Given the description of an element on the screen output the (x, y) to click on. 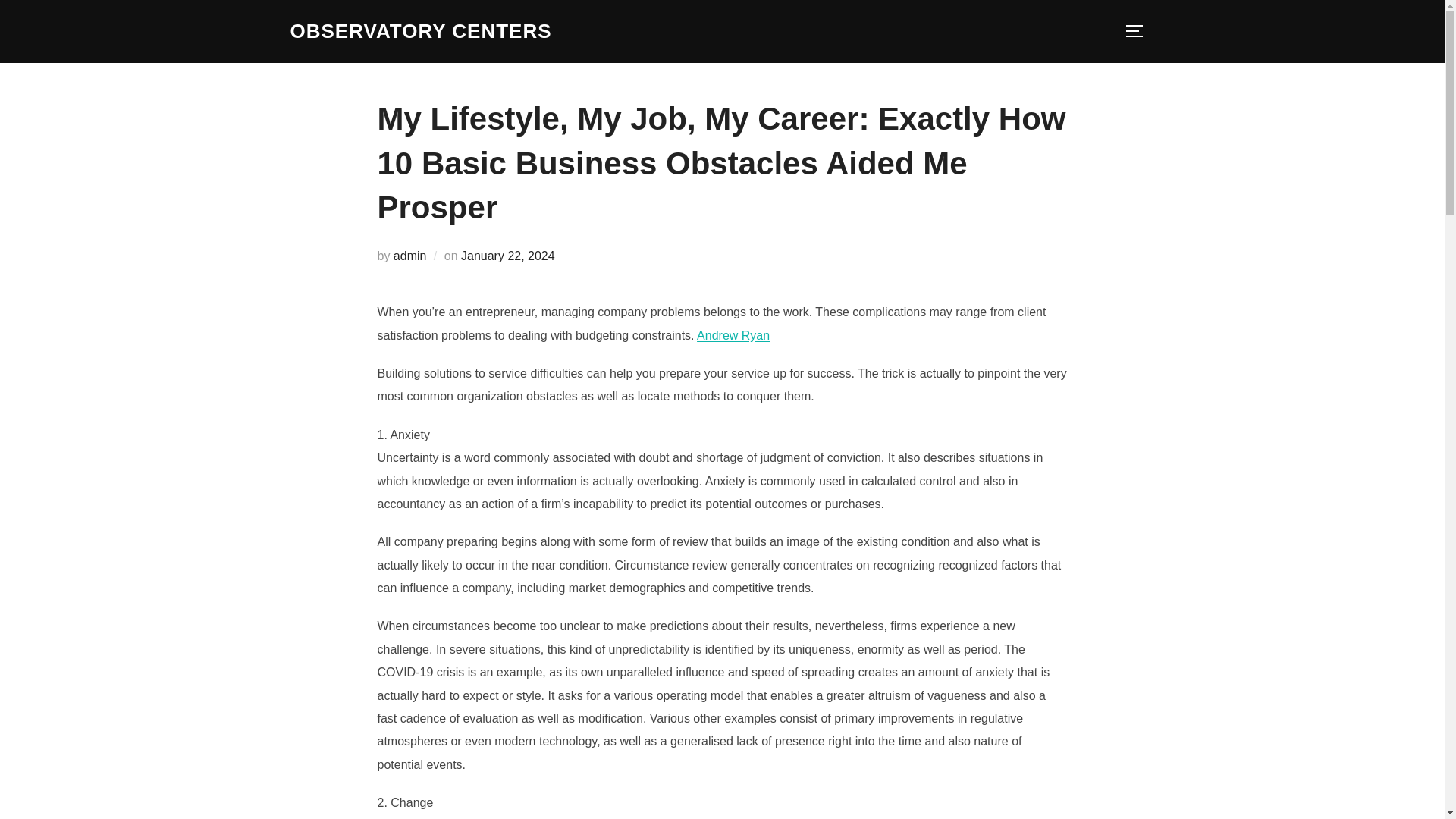
January 22, 2024 (507, 255)
admin (409, 255)
center for the Blind (420, 31)
OBSERVATORY CENTERS (420, 31)
Andrew Ryan (733, 335)
